Given the description of an element on the screen output the (x, y) to click on. 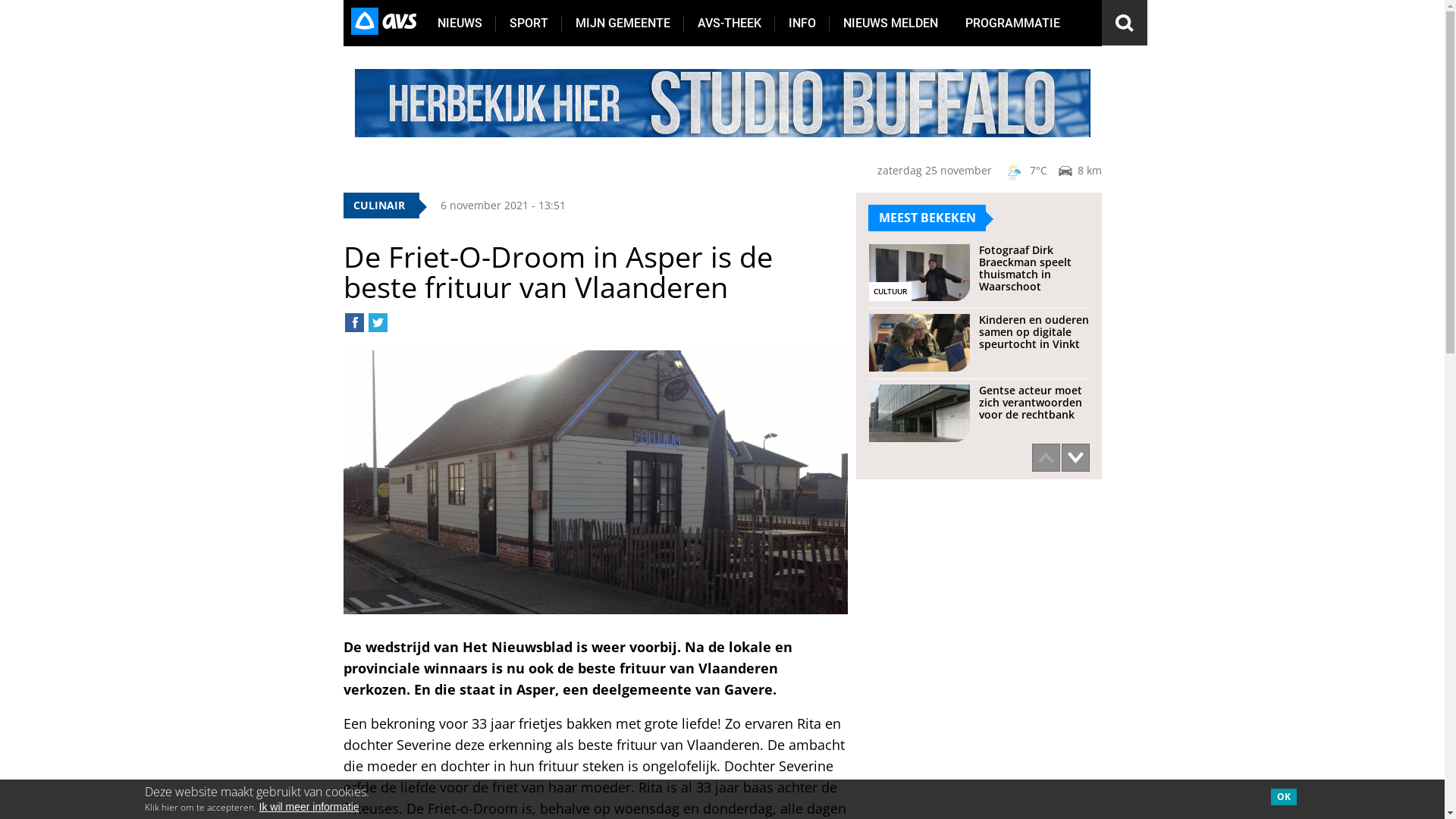
Kinderen en ouderen samen op digitale speurtocht in Vinkt Element type: text (978, 342)
Previous Element type: text (1045, 457)
MIJN GEMEENTE Element type: text (622, 23)
PROGRAMMATIE Element type: text (1011, 23)
Overslaan en naar de inhoud gaan Element type: text (88, 0)
Next Element type: text (1075, 457)
NIEUWS MELDEN Element type: text (890, 23)
SPORT Element type: text (528, 23)
Gentse acteur moet zich verantwoorden voor de rechtbank Element type: text (978, 413)
OK Element type: text (1283, 796)
NIEUWS Element type: text (459, 23)
AVS-THEEK Element type: text (729, 23)
Home Element type: hover (382, 23)
Ik wil meer informatie Element type: text (309, 807)
INFO Element type: text (802, 23)
